Given the description of an element on the screen output the (x, y) to click on. 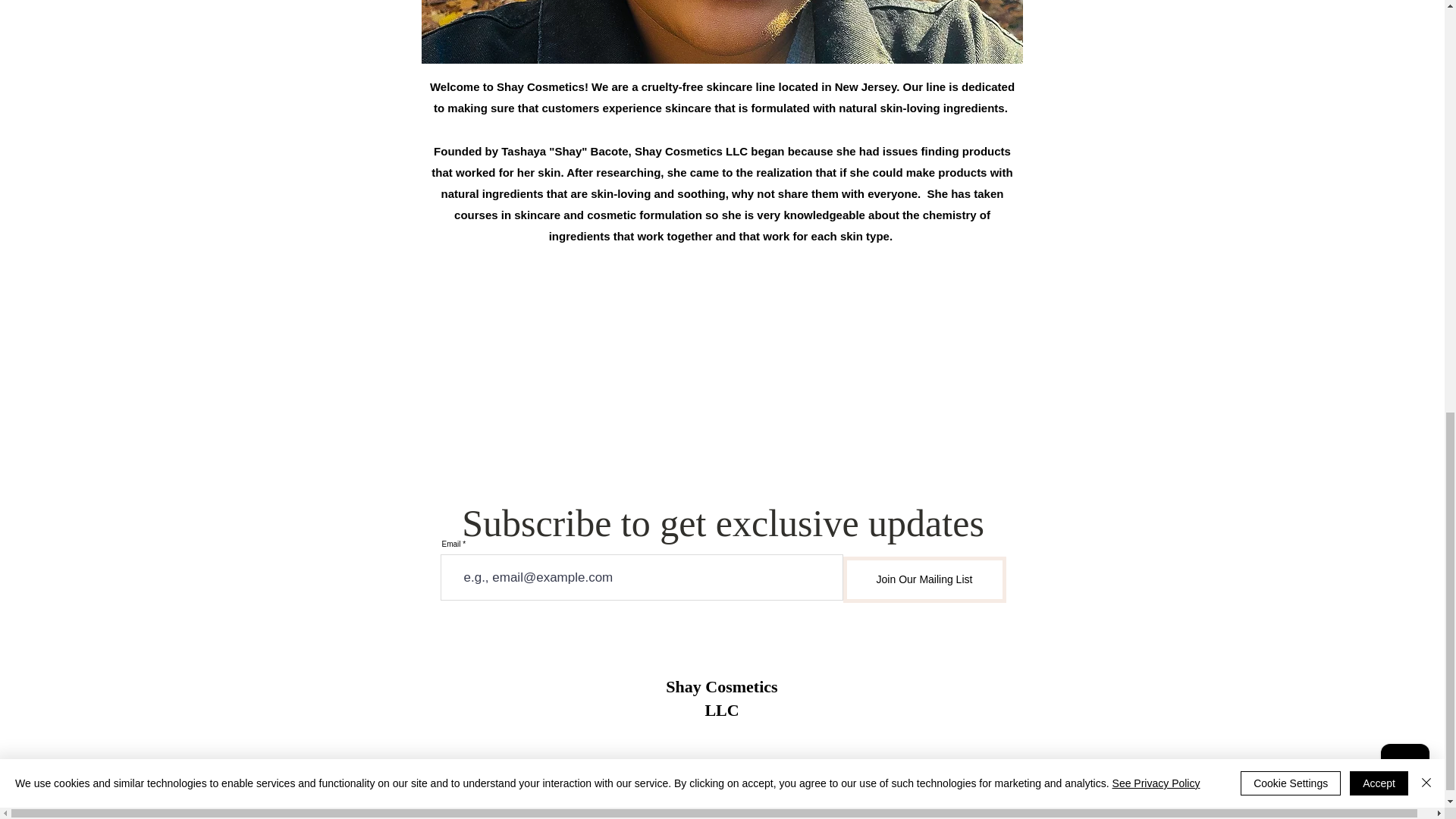
Shay Cosmetics LLC (721, 698)
Join Our Mailing List (924, 579)
